Given the description of an element on the screen output the (x, y) to click on. 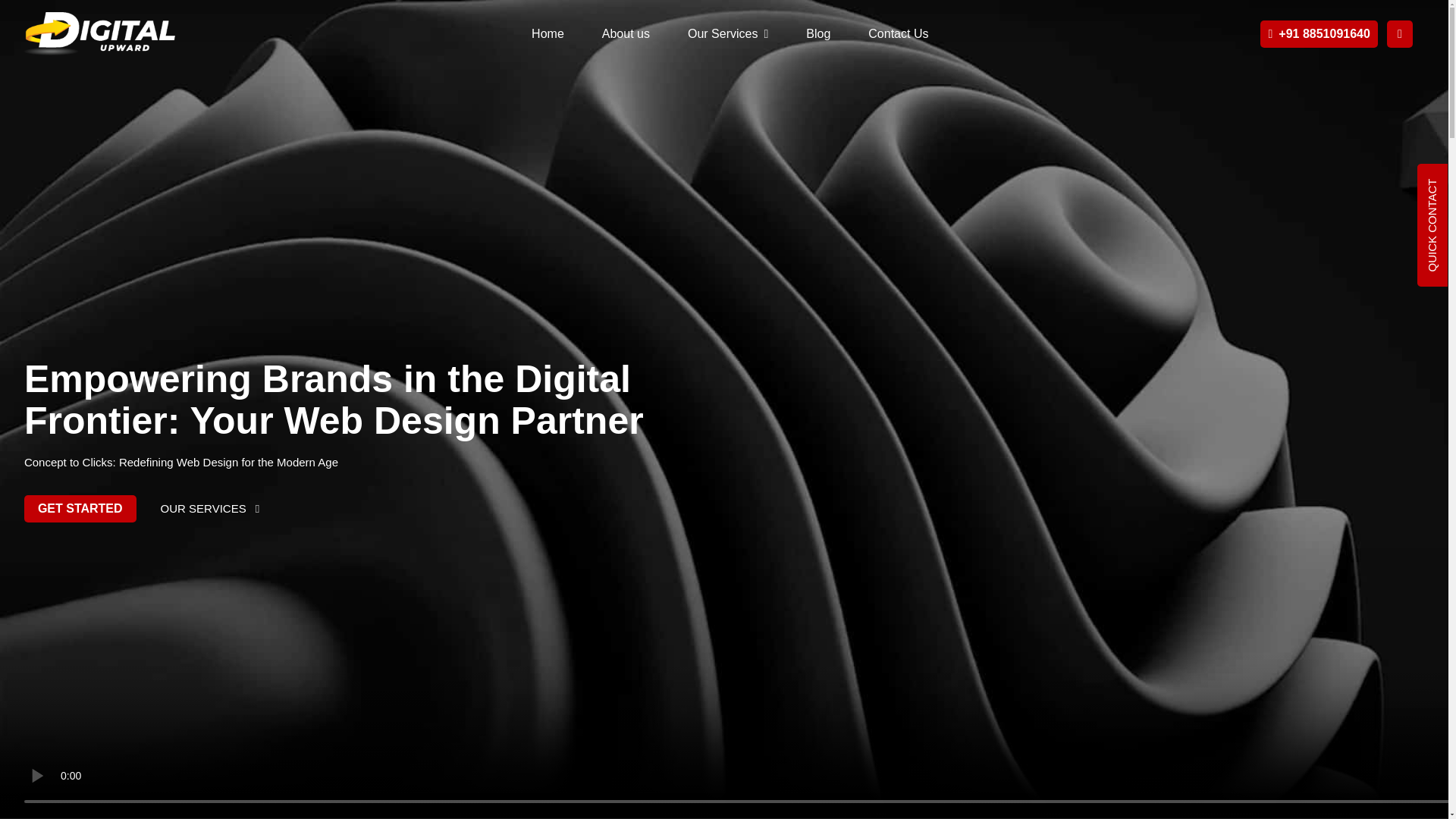
Contact Us (898, 33)
About us (625, 33)
Home (547, 33)
Our Services (727, 33)
Digital Upward (98, 33)
Blog (817, 33)
